Given the description of an element on the screen output the (x, y) to click on. 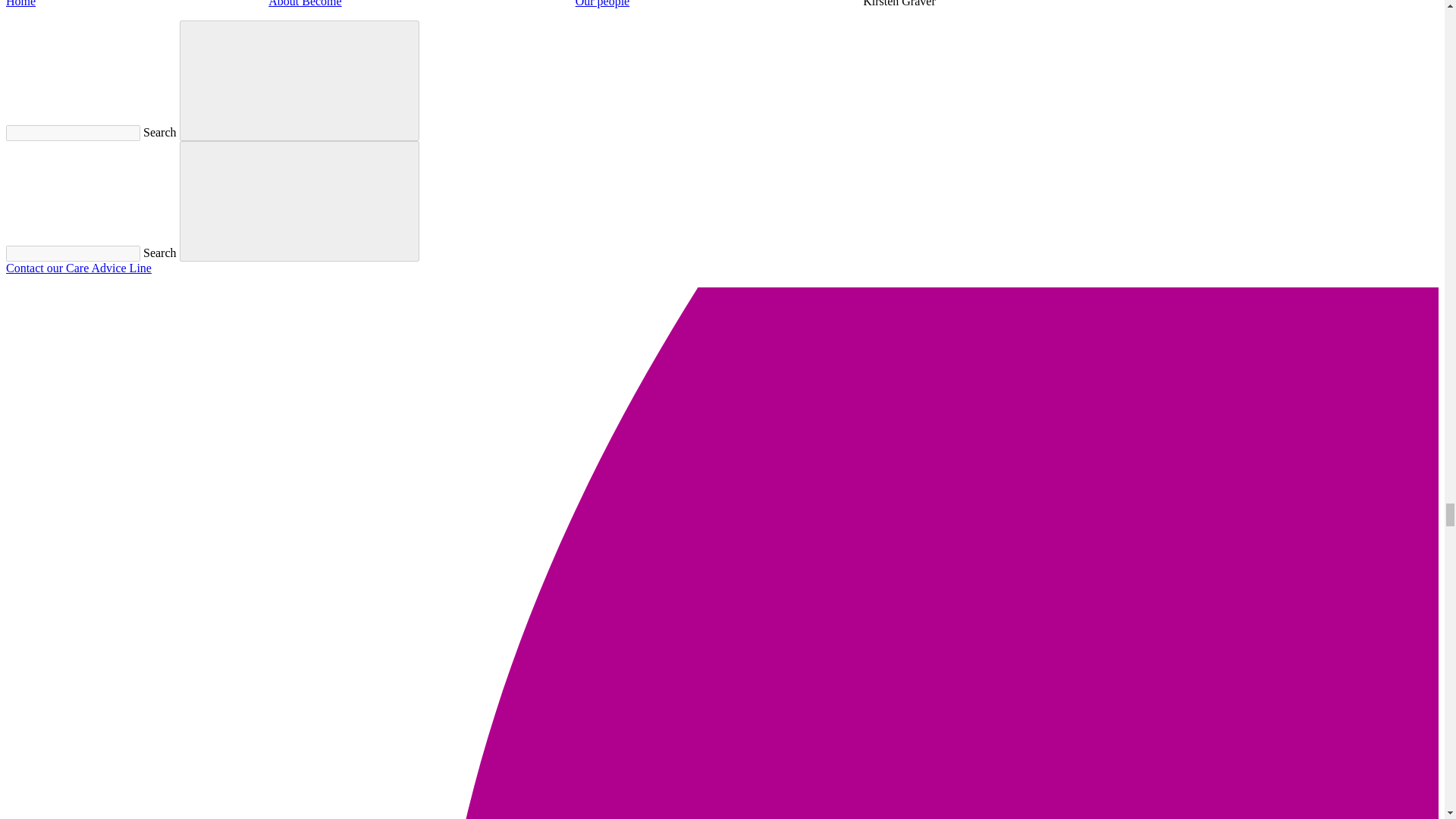
Home (19, 3)
